Given the description of an element on the screen output the (x, y) to click on. 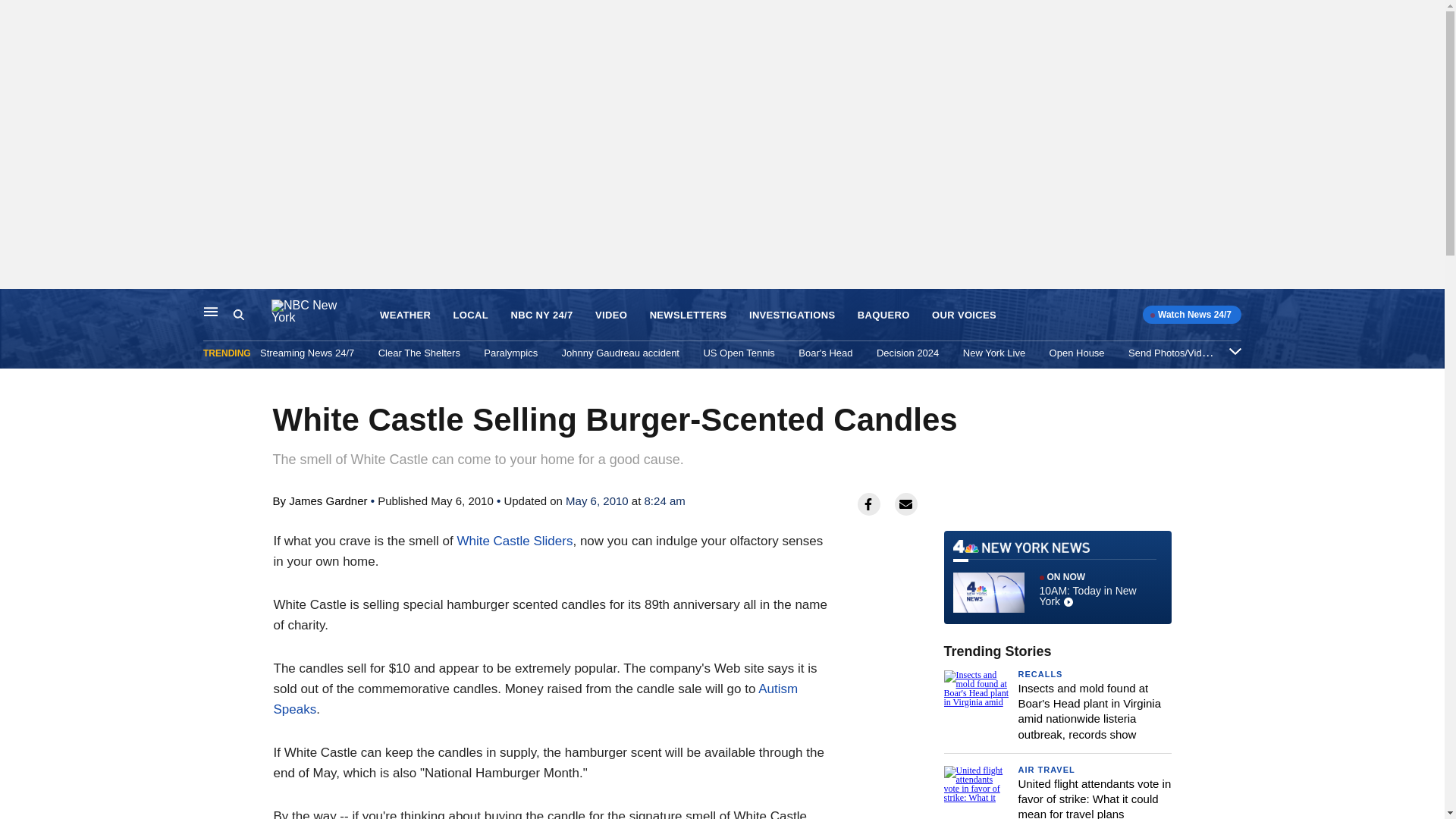
US Open Tennis (738, 352)
Open House (1077, 352)
Expand (1234, 350)
VIDEO (611, 315)
Autism Speaks (535, 698)
LOCAL (469, 315)
Main Navigation (210, 311)
Decision 2024 (907, 352)
Paralympics (510, 352)
